Given the description of an element on the screen output the (x, y) to click on. 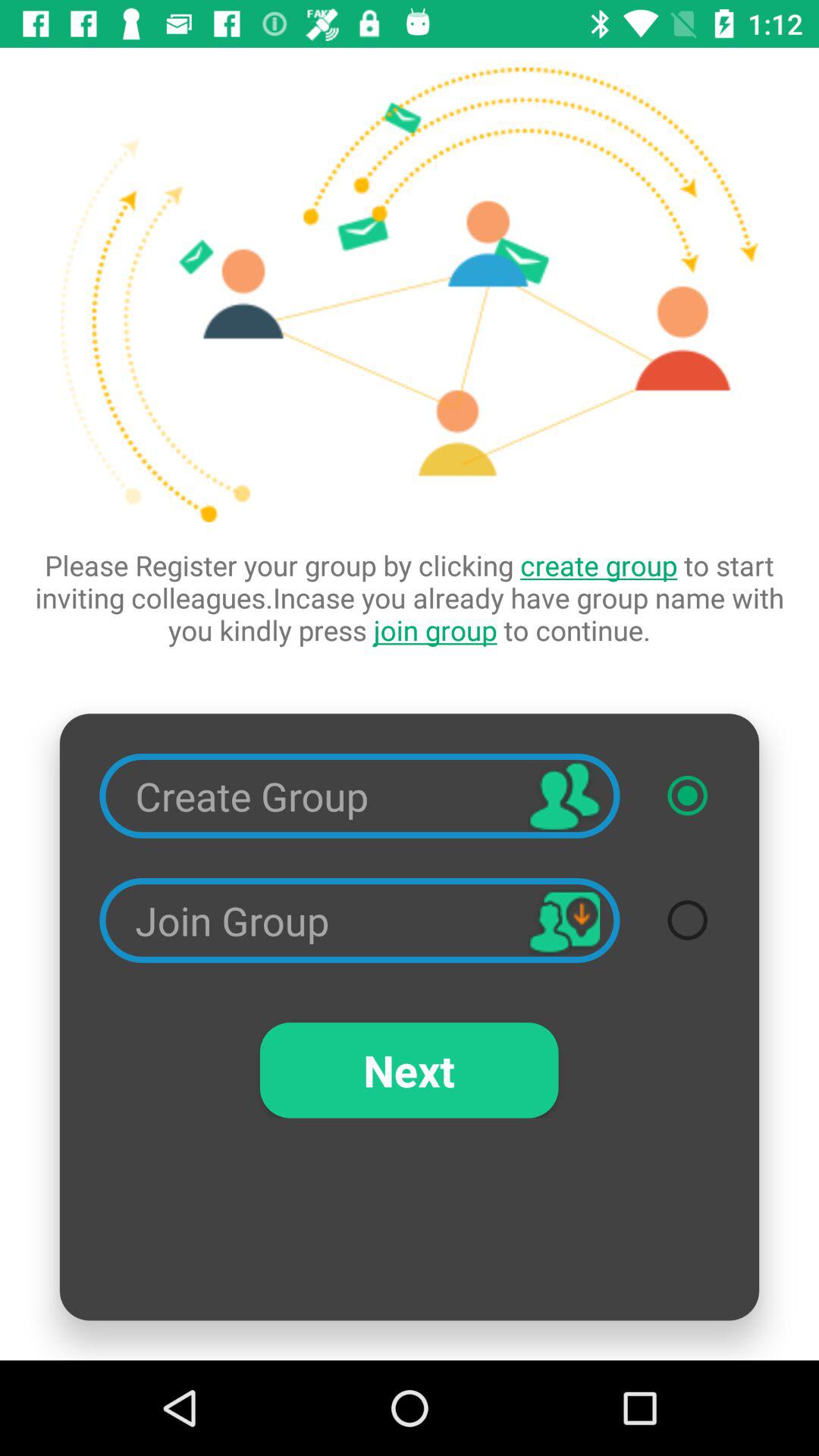
join group (687, 920)
